Given the description of an element on the screen output the (x, y) to click on. 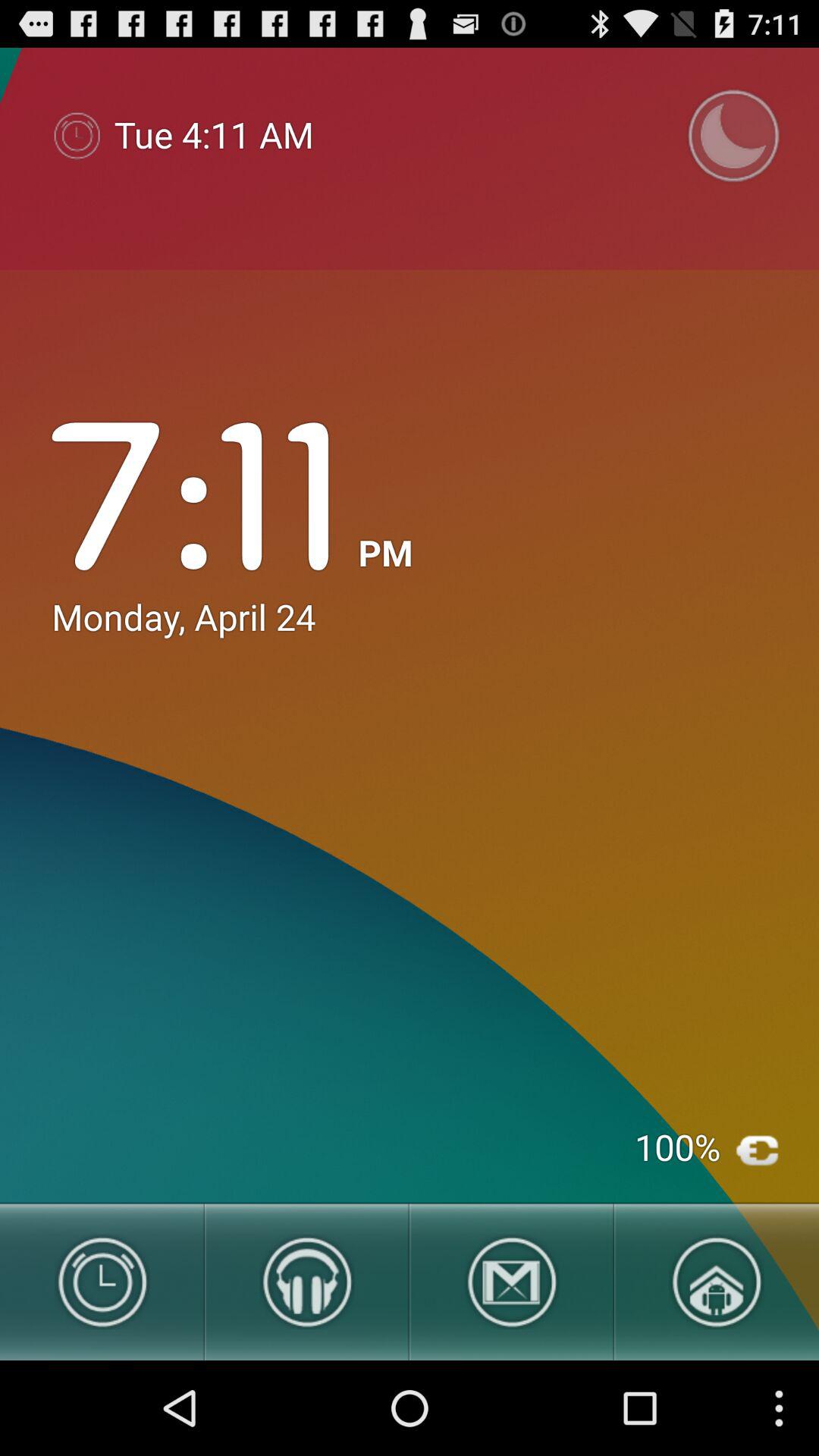
click the button from the bottom right beside the mail box (716, 1280)
